Given the description of an element on the screen output the (x, y) to click on. 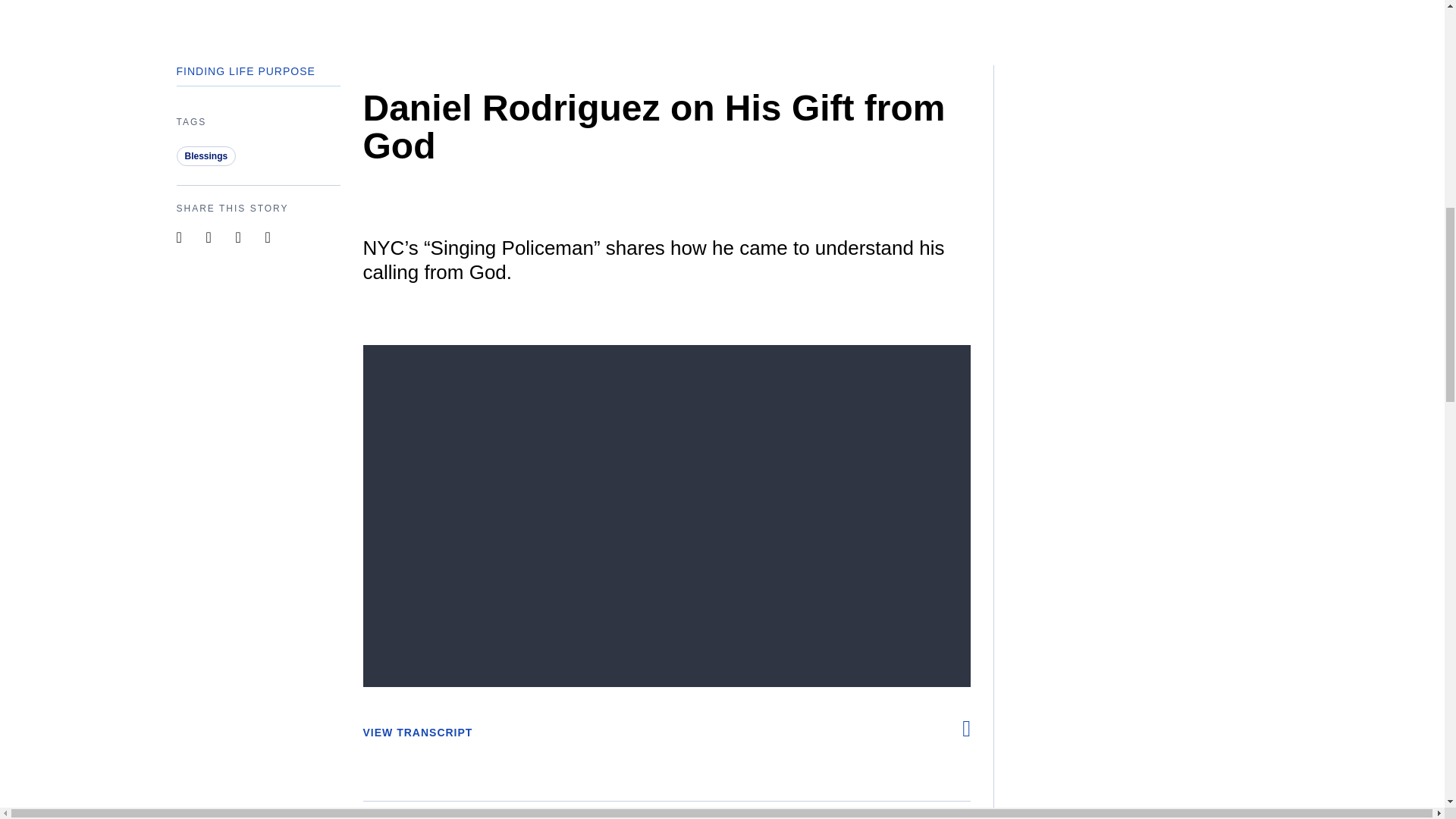
Twitter (218, 237)
Email (189, 237)
Pinterest (247, 237)
Pinterest (927, 814)
Facebook (277, 237)
Twitter (898, 814)
Email (869, 814)
Facebook (957, 814)
